Given the description of an element on the screen output the (x, y) to click on. 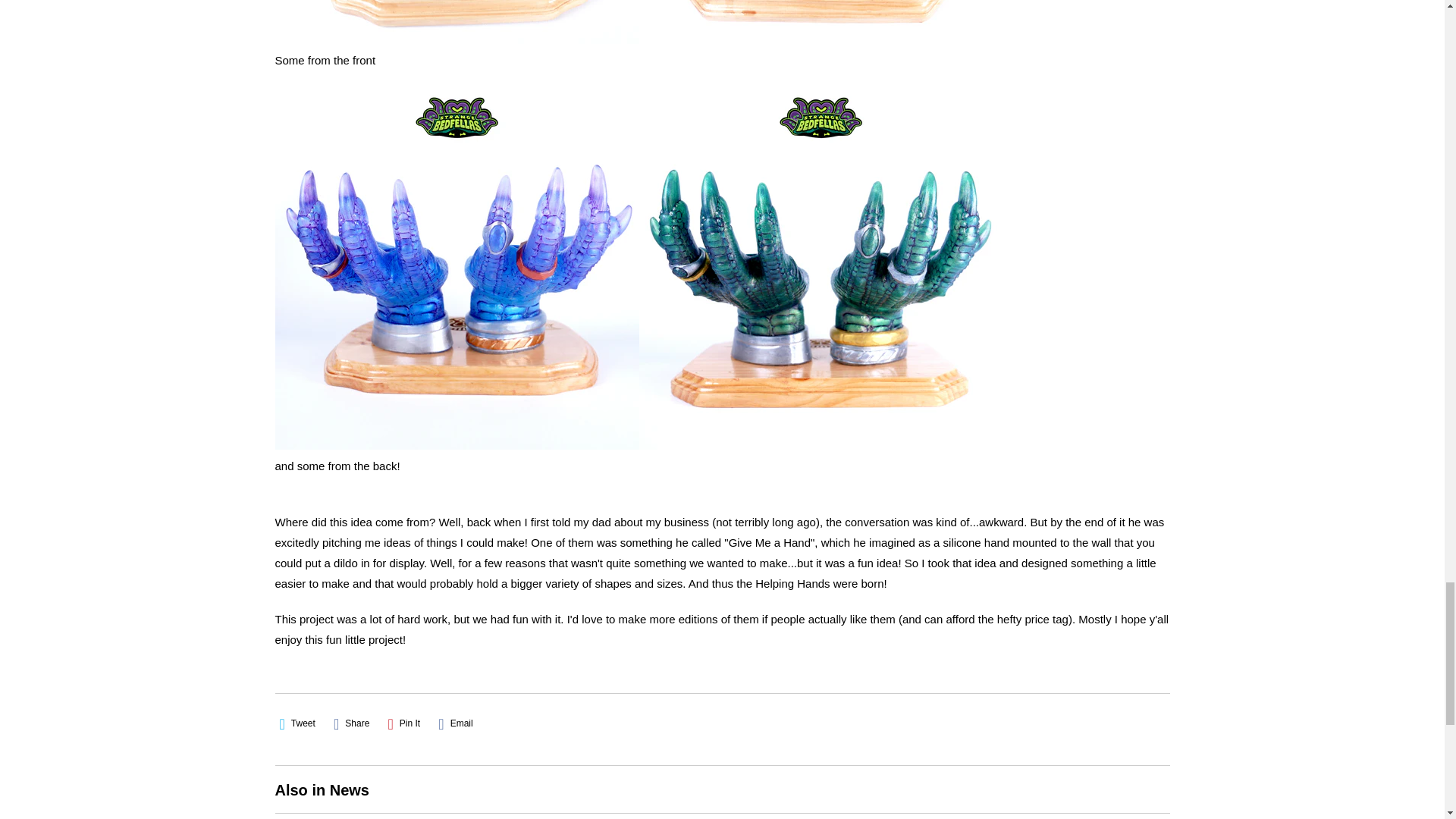
Share this on Pinterest (404, 723)
Share this on Twitter (296, 723)
Email this to a friend (455, 723)
Share this on Facebook (351, 723)
